Given the description of an element on the screen output the (x, y) to click on. 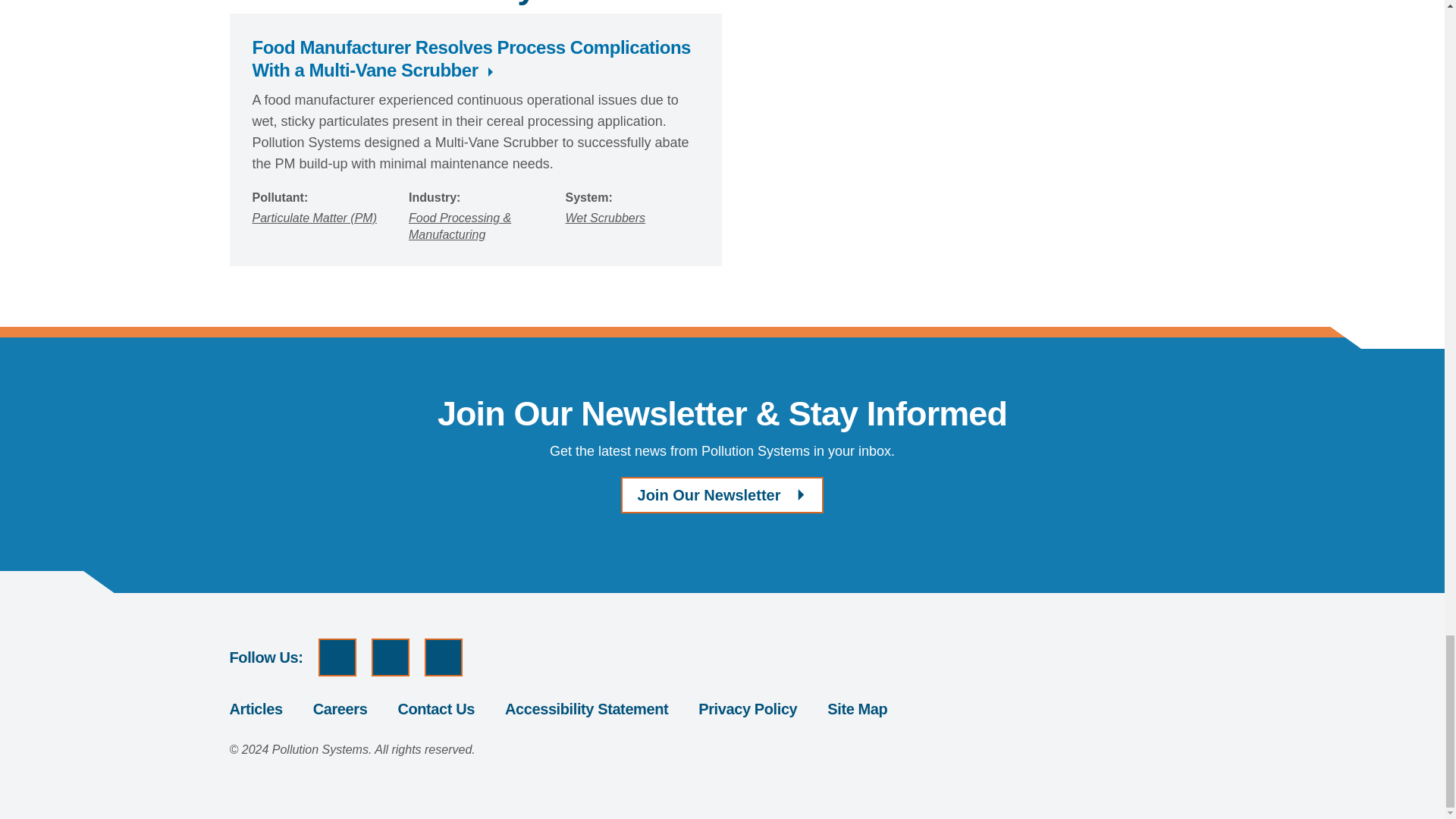
Follow us on LinkedIn (444, 657)
Subscribe on YouTube (337, 657)
Like us on Facebook (390, 657)
